Given the description of an element on the screen output the (x, y) to click on. 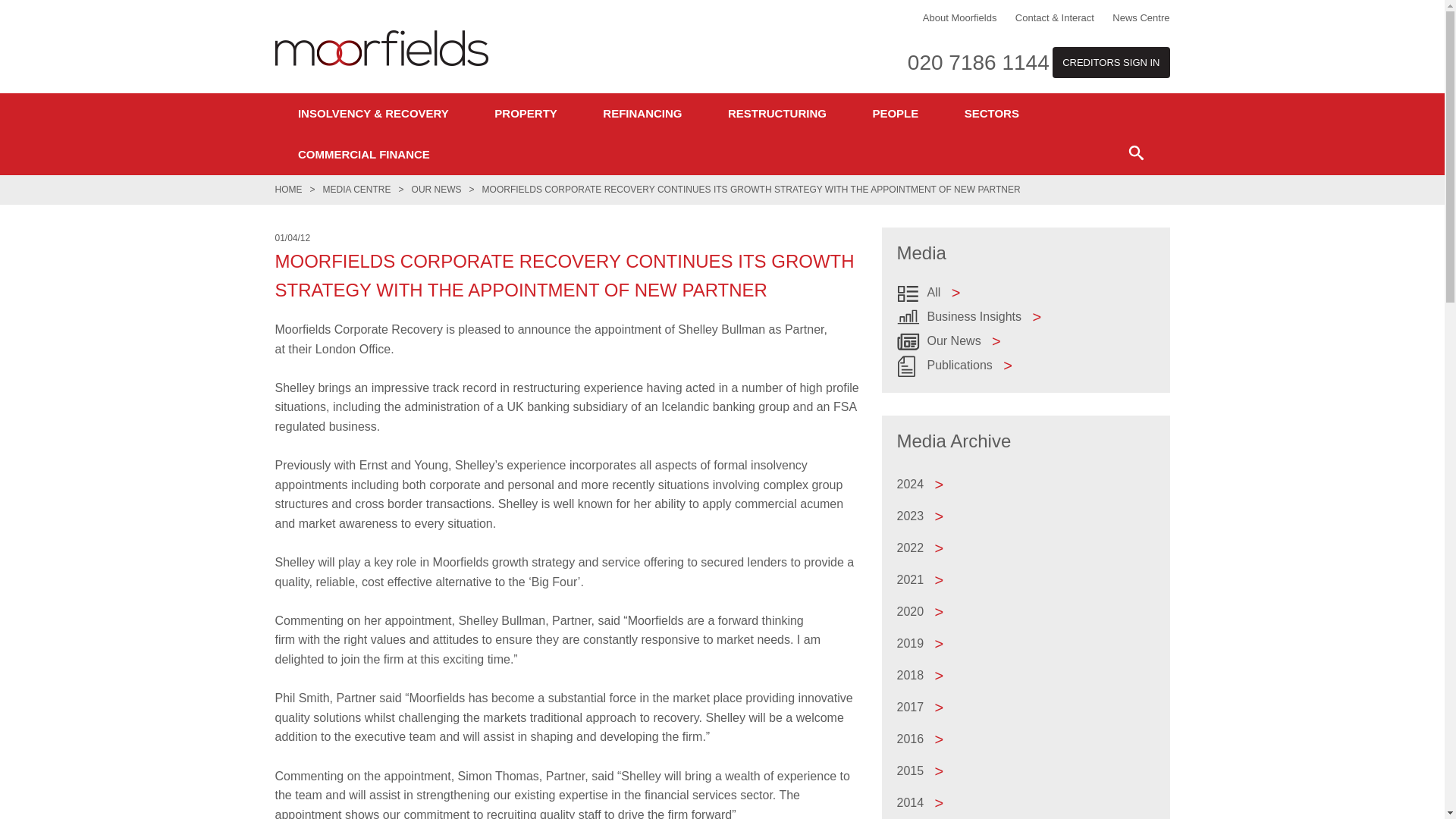
About Moorfields (960, 17)
SECTORS (991, 113)
CREDITORS SIGN IN (1110, 62)
PEOPLE (895, 113)
PROPERTY (525, 113)
REFINANCING (642, 113)
RESTRUCTURING (777, 113)
News Centre (1140, 17)
